Given the description of an element on the screen output the (x, y) to click on. 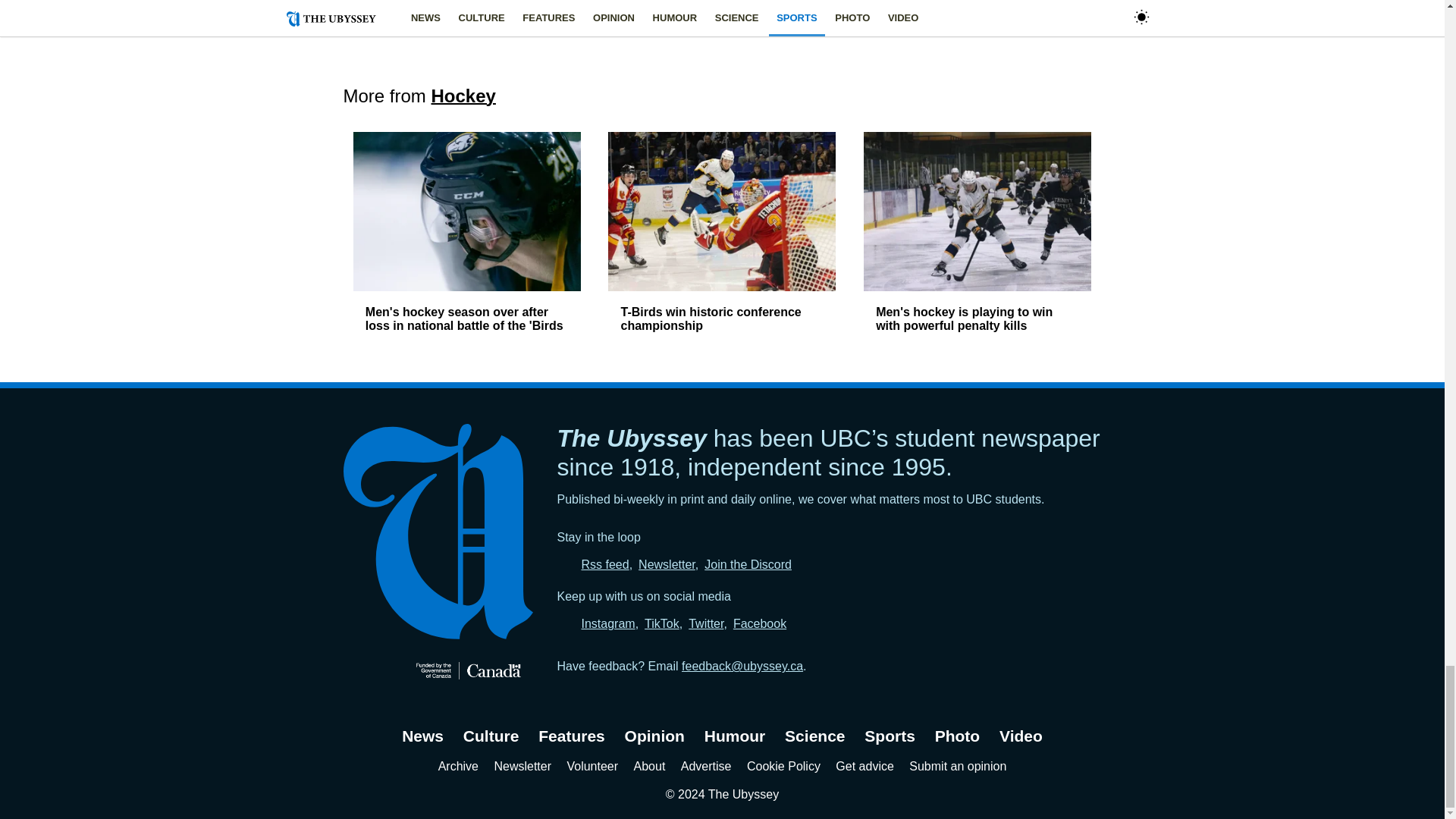
Discord link (748, 563)
The Ubyssey on Tiktok (662, 623)
Email address for feedback (742, 666)
The Ubyssey on Twitter (705, 623)
Rss feed (604, 563)
Newsletter (667, 563)
The Ubyssey on Instagram (607, 623)
The Ubyssey on Facebook (759, 623)
